Given the description of an element on the screen output the (x, y) to click on. 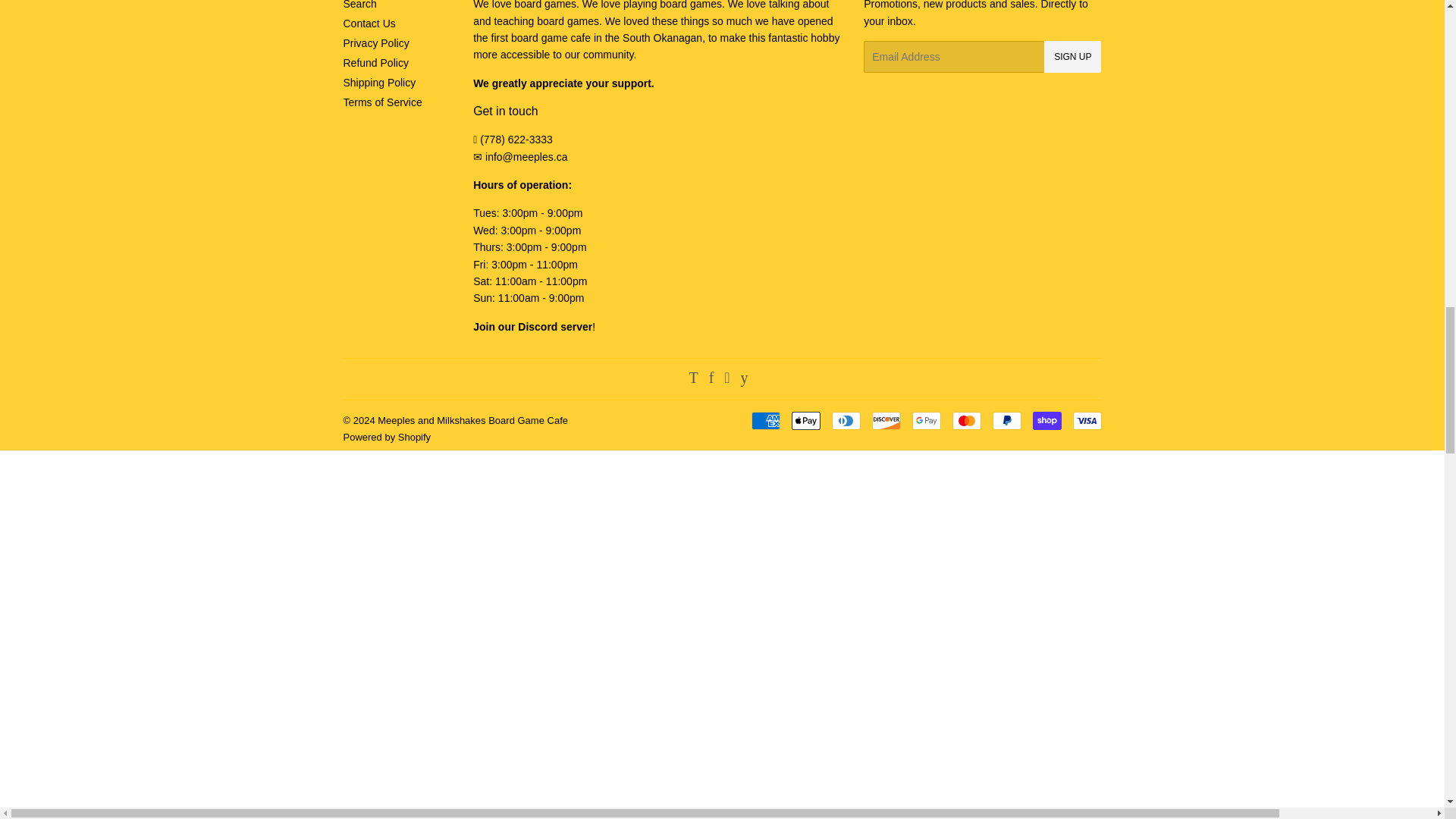
Google Pay (925, 420)
Email Us (525, 156)
Apple Pay (806, 420)
Discover (886, 420)
Shop Pay (1046, 420)
Diners Club (845, 420)
American Express (764, 420)
Meeples and Milkshakes Board Game Cafe Discord Server (532, 326)
Mastercard (966, 420)
Visa (1085, 420)
PayPal (1005, 420)
